Given the description of an element on the screen output the (x, y) to click on. 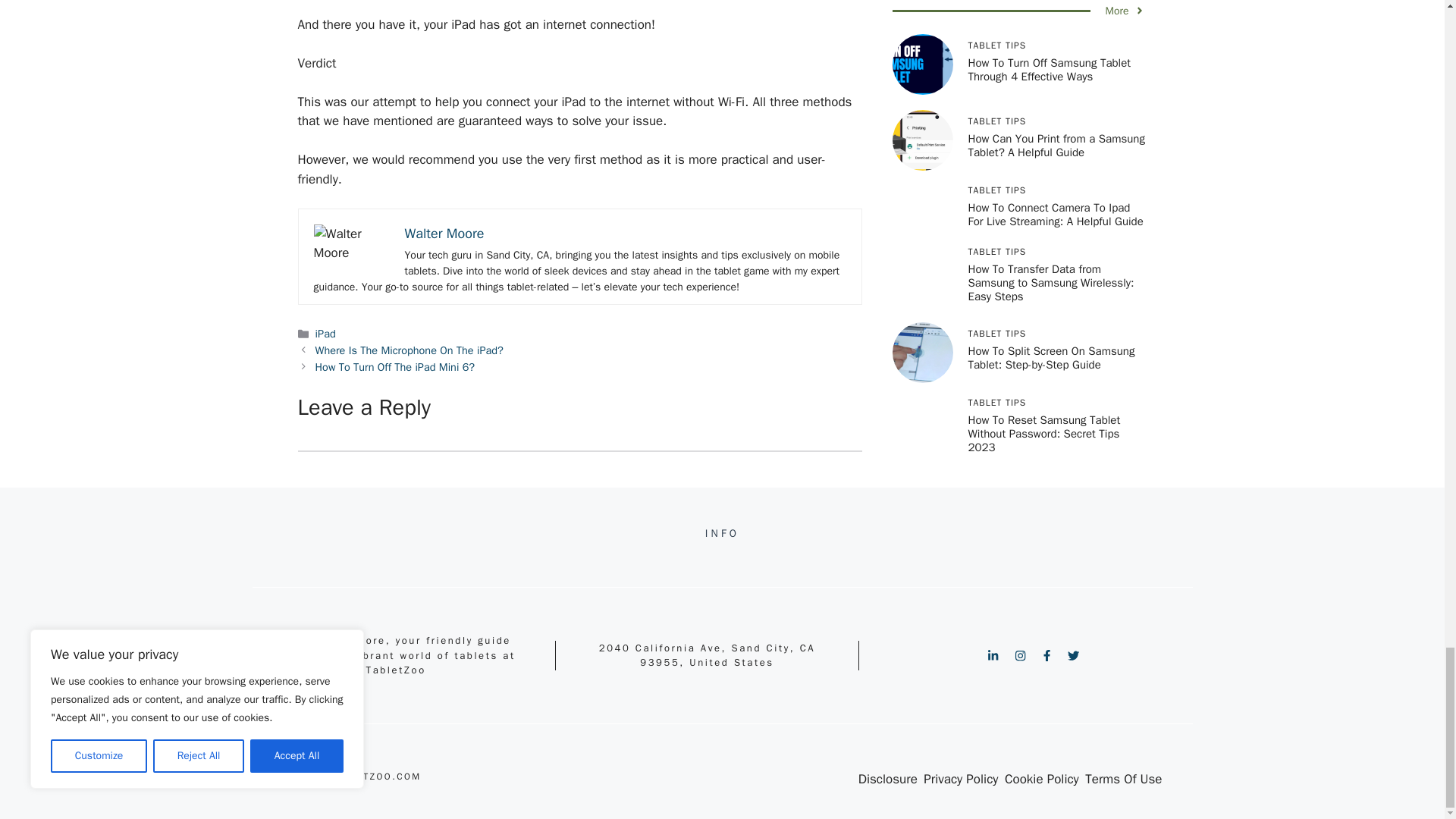
How To Turn Off The iPad Mini 6? (395, 366)
Walter Moore (444, 233)
iPad (325, 333)
Where Is The Microphone On The iPad? (409, 350)
